Given the description of an element on the screen output the (x, y) to click on. 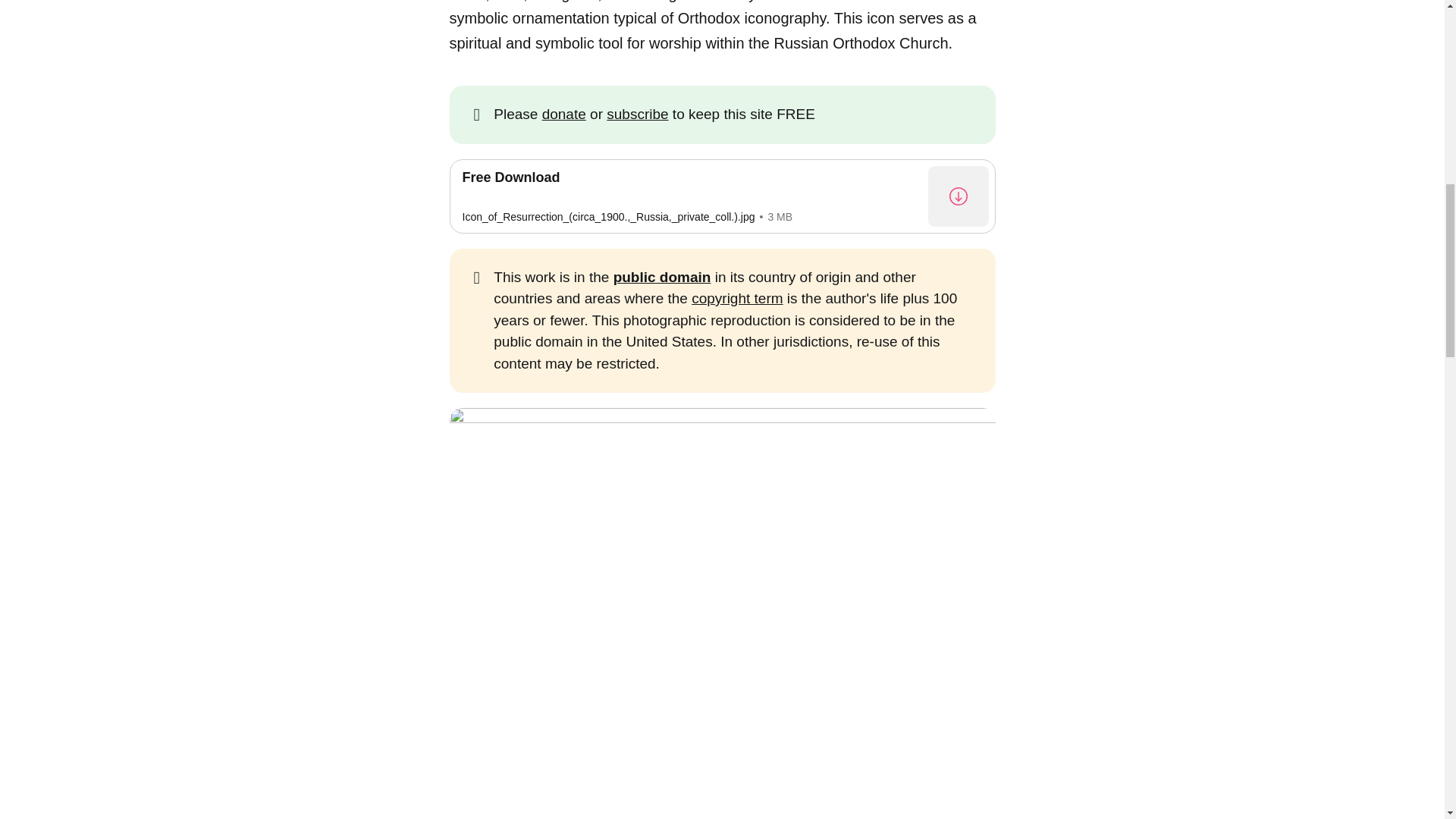
en:public domain (661, 277)
w:List of countries' copyright lengths (737, 298)
Download (721, 195)
public domain (661, 277)
copyright term (737, 298)
donate (563, 114)
subscribe (637, 114)
